Given the description of an element on the screen output the (x, y) to click on. 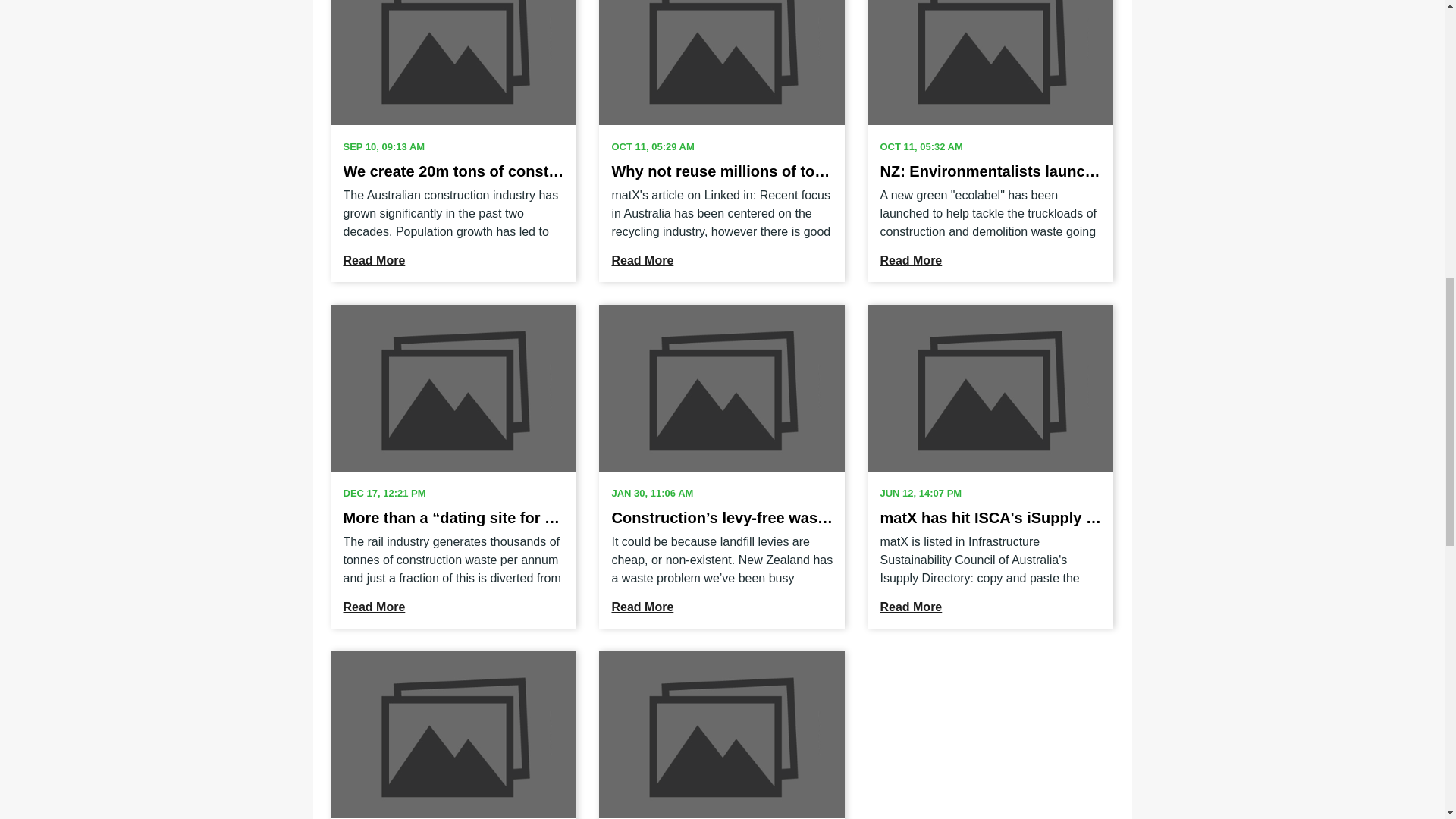
Read More (641, 259)
Read More (910, 606)
Read More (373, 259)
Read More (373, 606)
Read More (910, 259)
Read More (641, 606)
